Given the description of an element on the screen output the (x, y) to click on. 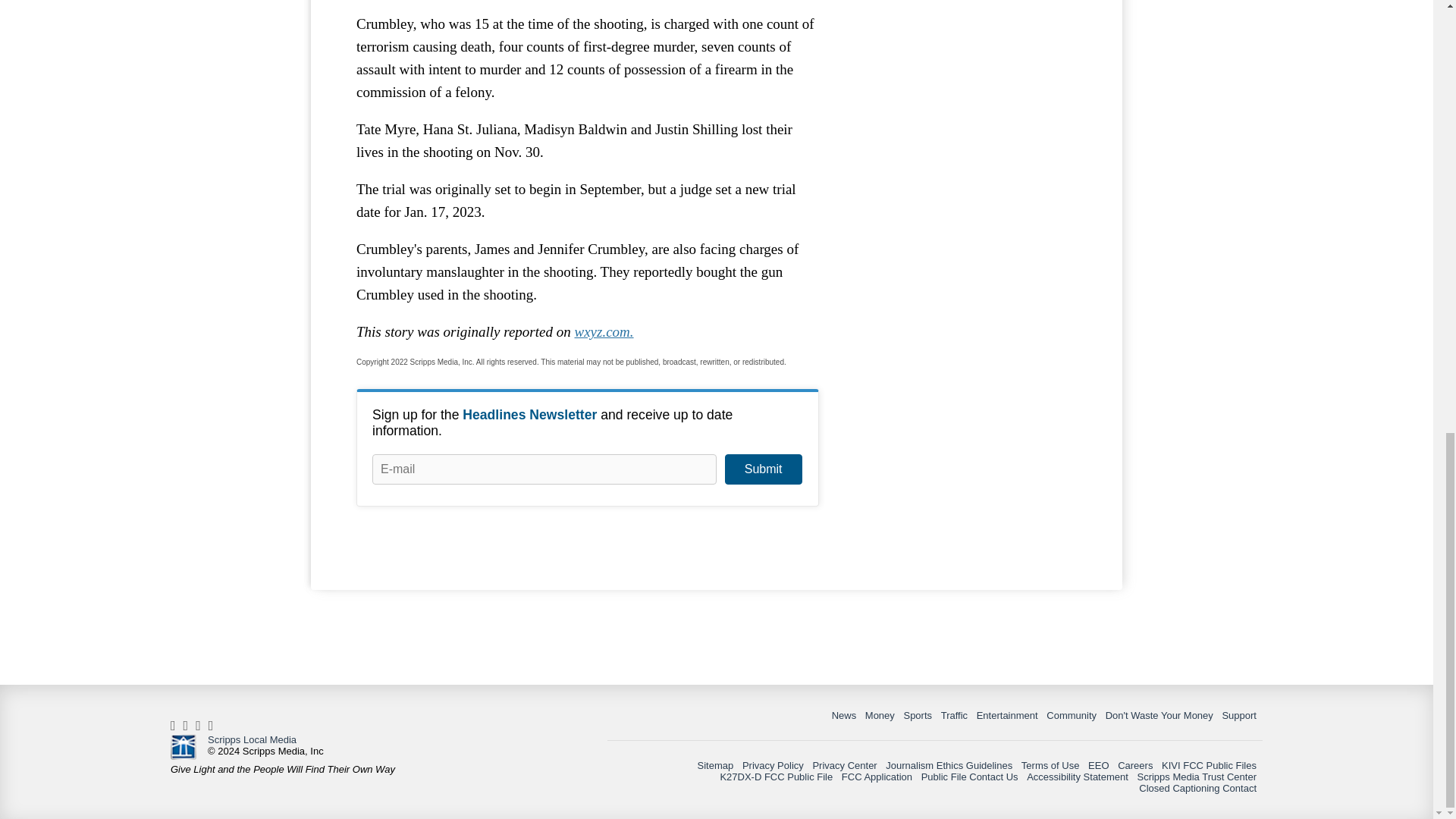
Submit (763, 469)
